Given the description of an element on the screen output the (x, y) to click on. 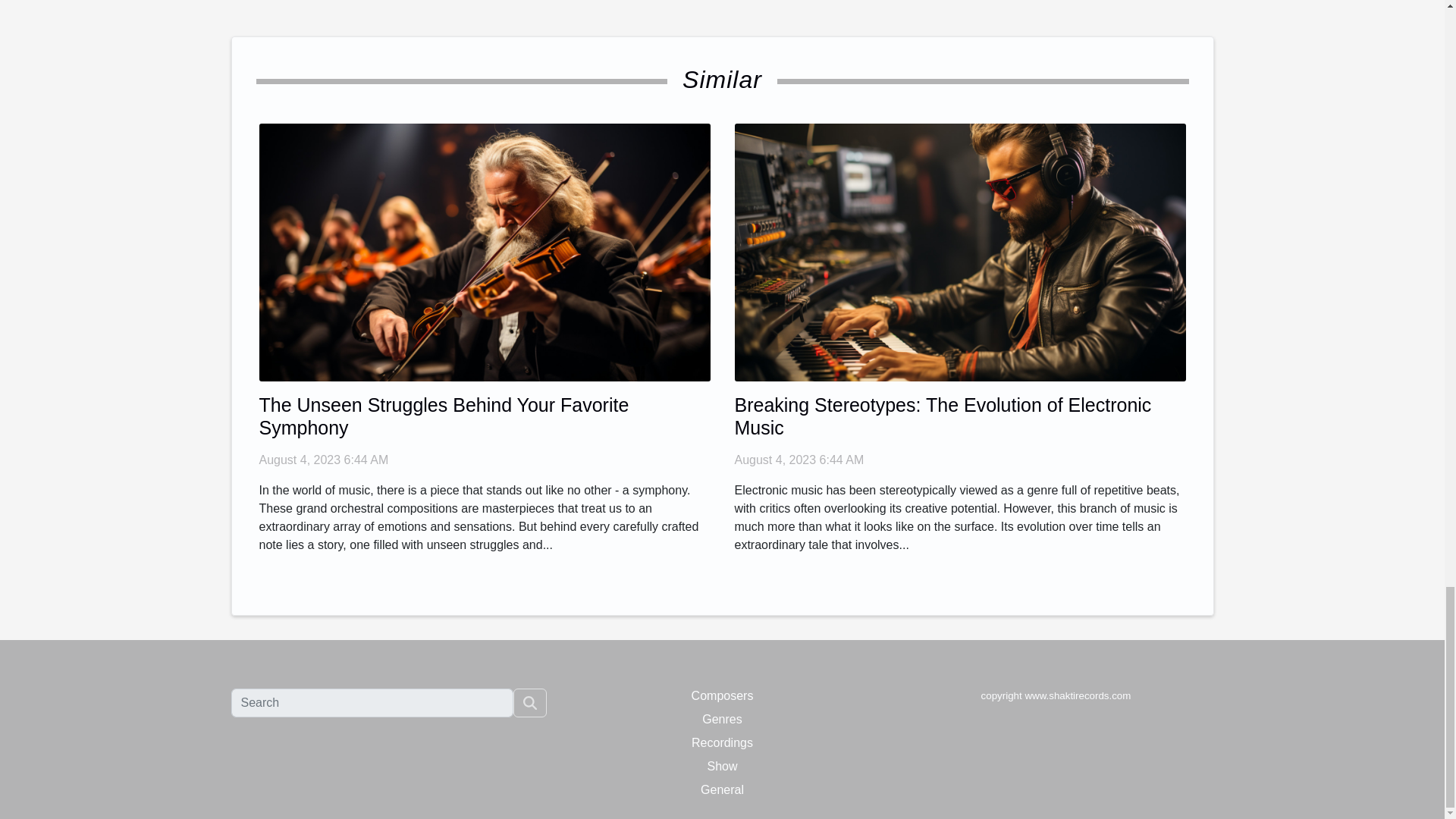
The Unseen Struggles Behind Your Favorite Symphony (484, 250)
Show (721, 766)
Composers (722, 695)
Breaking Stereotypes: The Evolution of Electronic Music (942, 415)
Composers (722, 695)
Recordings (721, 742)
General (722, 789)
Breaking Stereotypes: The Evolution of Electronic Music (959, 250)
Show (721, 766)
The Unseen Struggles Behind Your Favorite Symphony (443, 415)
Breaking Stereotypes: The Evolution of Electronic Music (942, 415)
The Unseen Struggles Behind Your Favorite Symphony (443, 415)
Genres (721, 718)
Recordings (721, 742)
General (722, 789)
